Given the description of an element on the screen output the (x, y) to click on. 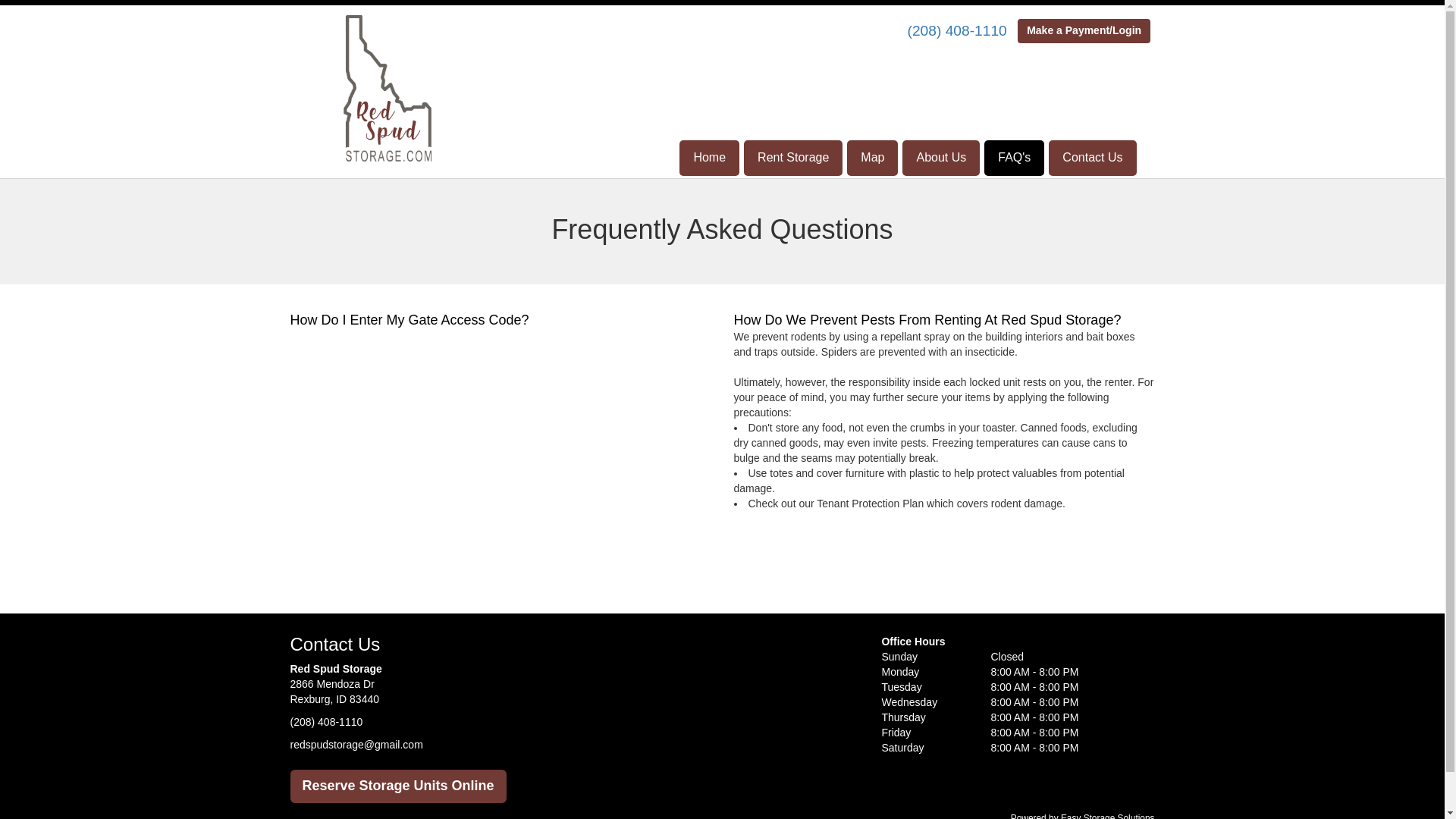
Contact Us (1091, 158)
FAQ's (1013, 158)
About Us (940, 158)
Home (709, 158)
Easy Storage Solutions (1107, 816)
Map (872, 158)
Reserve Storage Units Online (397, 786)
Rent Storage (793, 158)
